Given the description of an element on the screen output the (x, y) to click on. 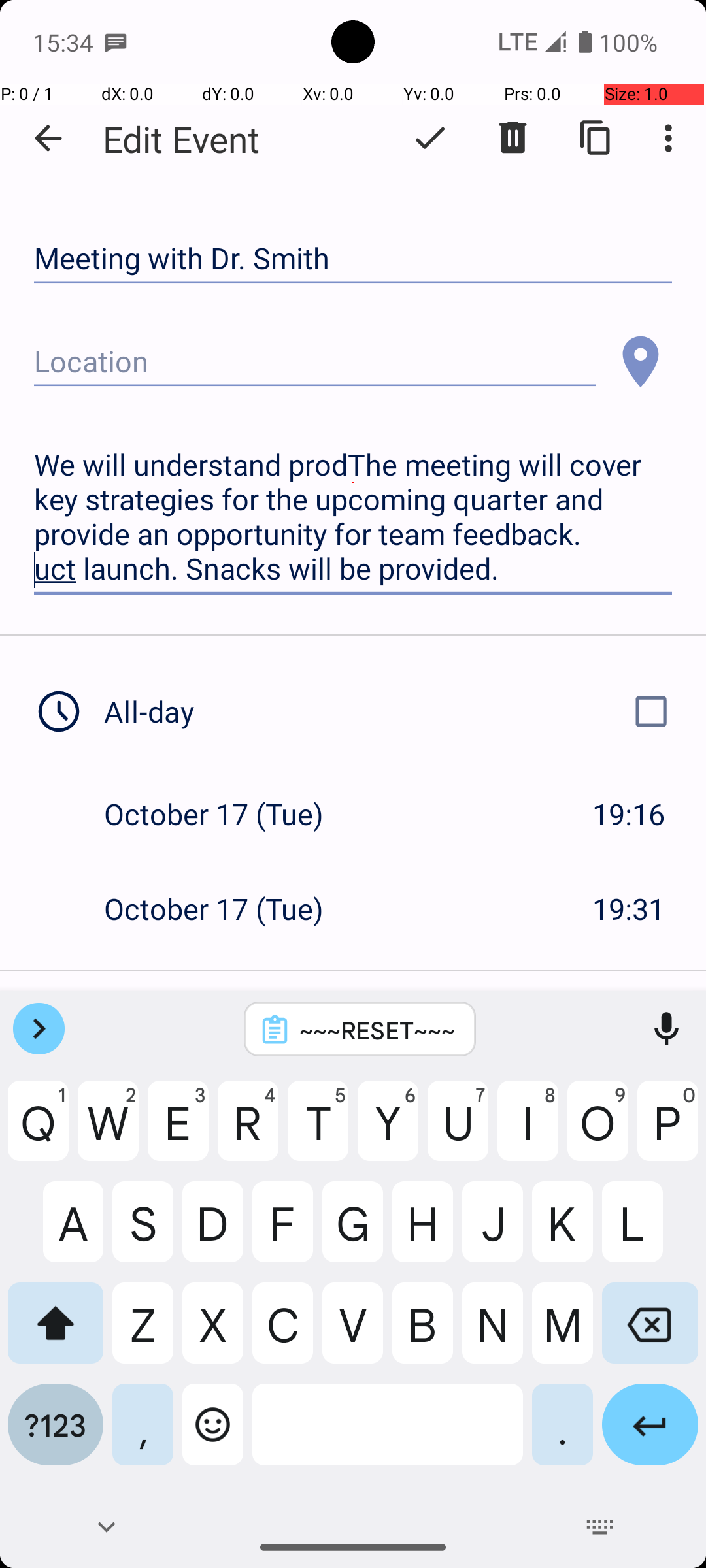
We will understand prodThe meeting will cover key strategies for the upcoming quarter and provide an opportunity for team feedback.
uct launch. Snacks will be provided. Element type: android.widget.EditText (352, 516)
October 17 (Tue) Element type: android.widget.TextView (227, 813)
19:16 Element type: android.widget.TextView (628, 813)
19:31 Element type: android.widget.TextView (628, 908)
